Given the description of an element on the screen output the (x, y) to click on. 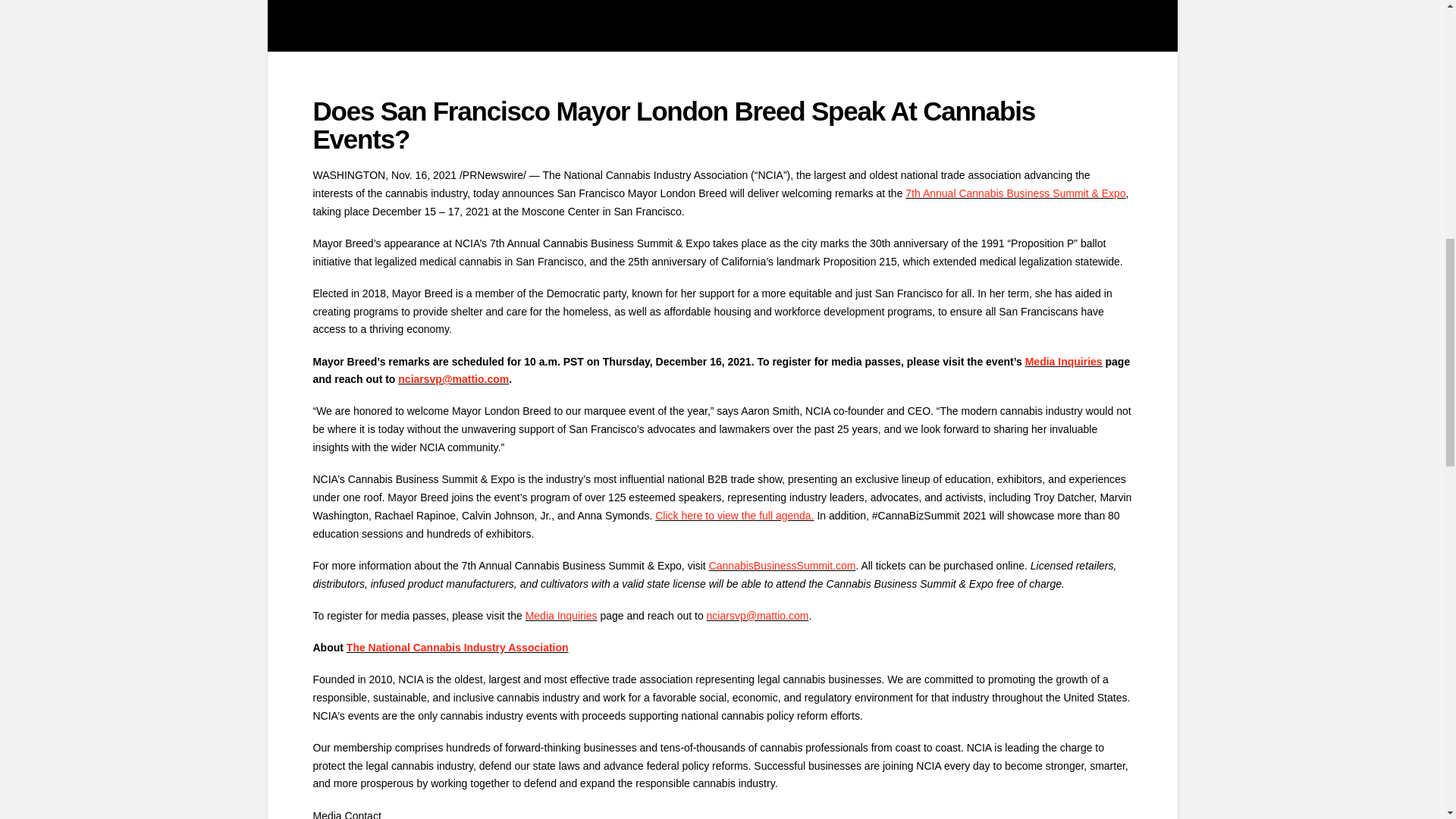
The National Cannabis Industry Association (457, 647)
Media Inquiries (1063, 360)
Click here to view the full agenda. (734, 515)
CannabisBusinessSummit.com (782, 565)
Media Inquiries (560, 615)
